Given the description of an element on the screen output the (x, y) to click on. 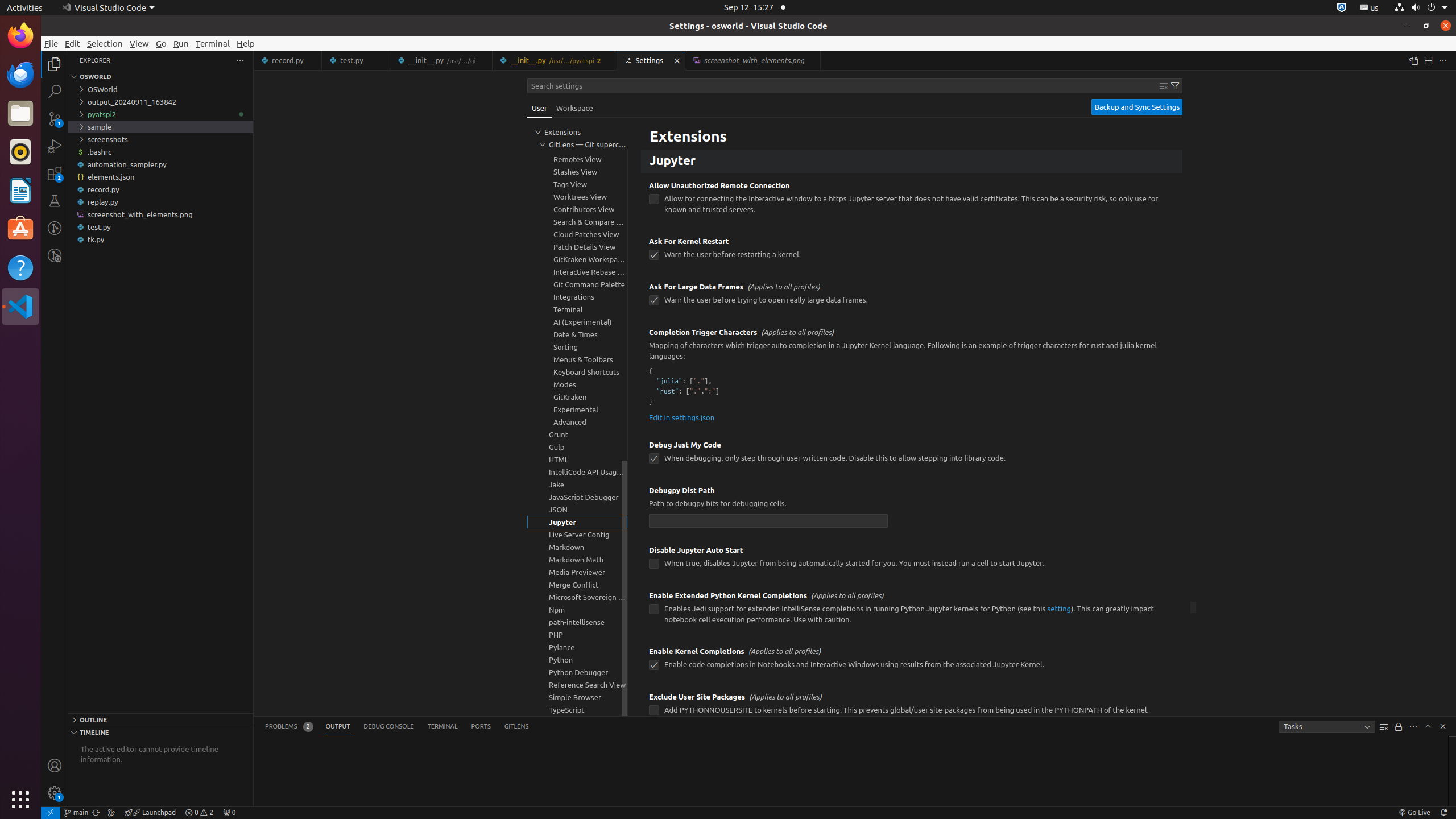
Visual File History, group Element type: tree-item (577, 121)
Interactive Rebase Editor, group Element type: tree-item (577, 271)
Branches View, group Element type: tree-item (577, 146)
